Given the description of an element on the screen output the (x, y) to click on. 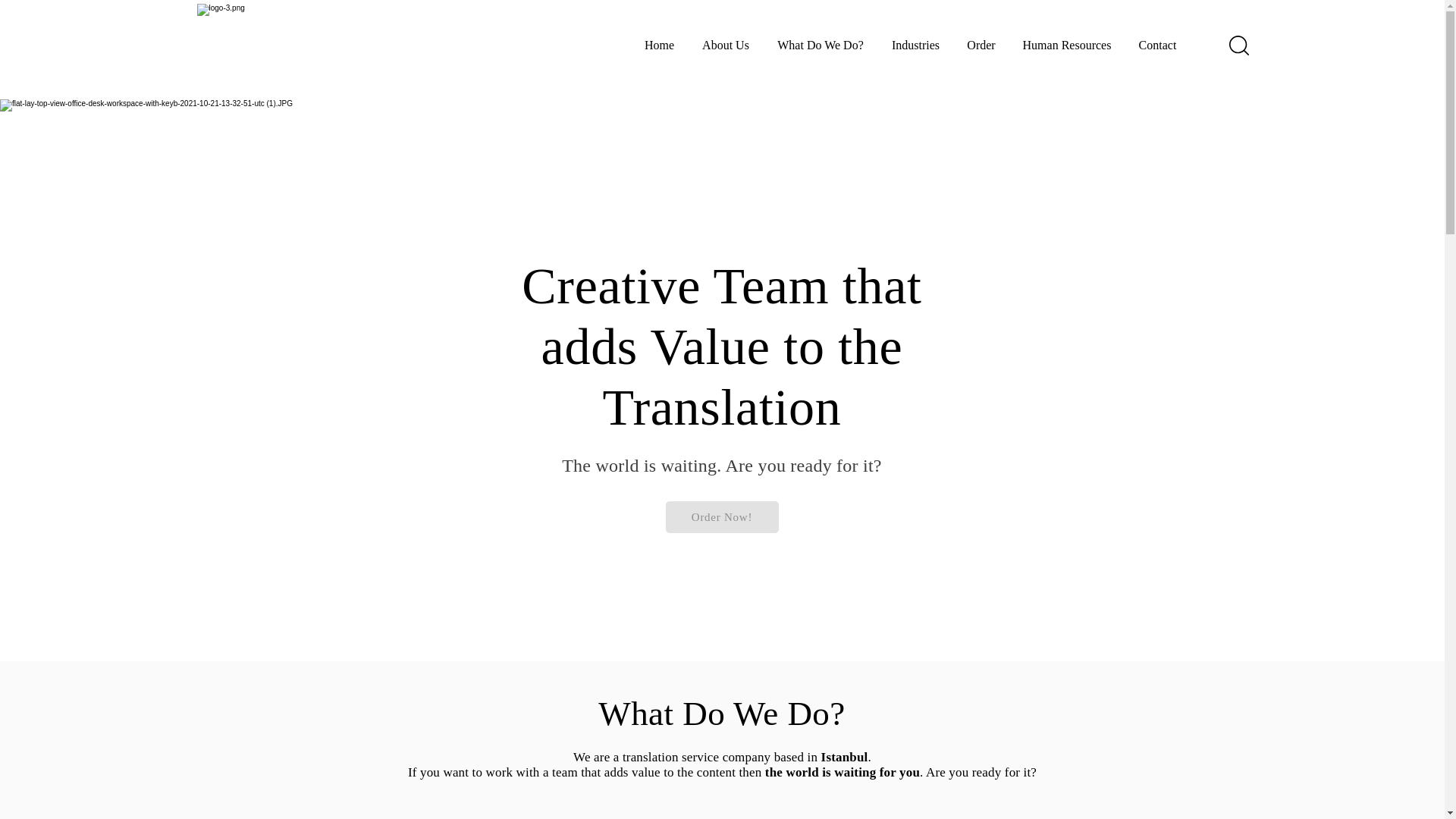
About Us (725, 45)
Human Resources (1066, 45)
Contact (1158, 45)
Home (659, 45)
Industries (915, 45)
What Do We Do? (819, 45)
Order Now! (721, 517)
Order (981, 45)
